Given the description of an element on the screen output the (x, y) to click on. 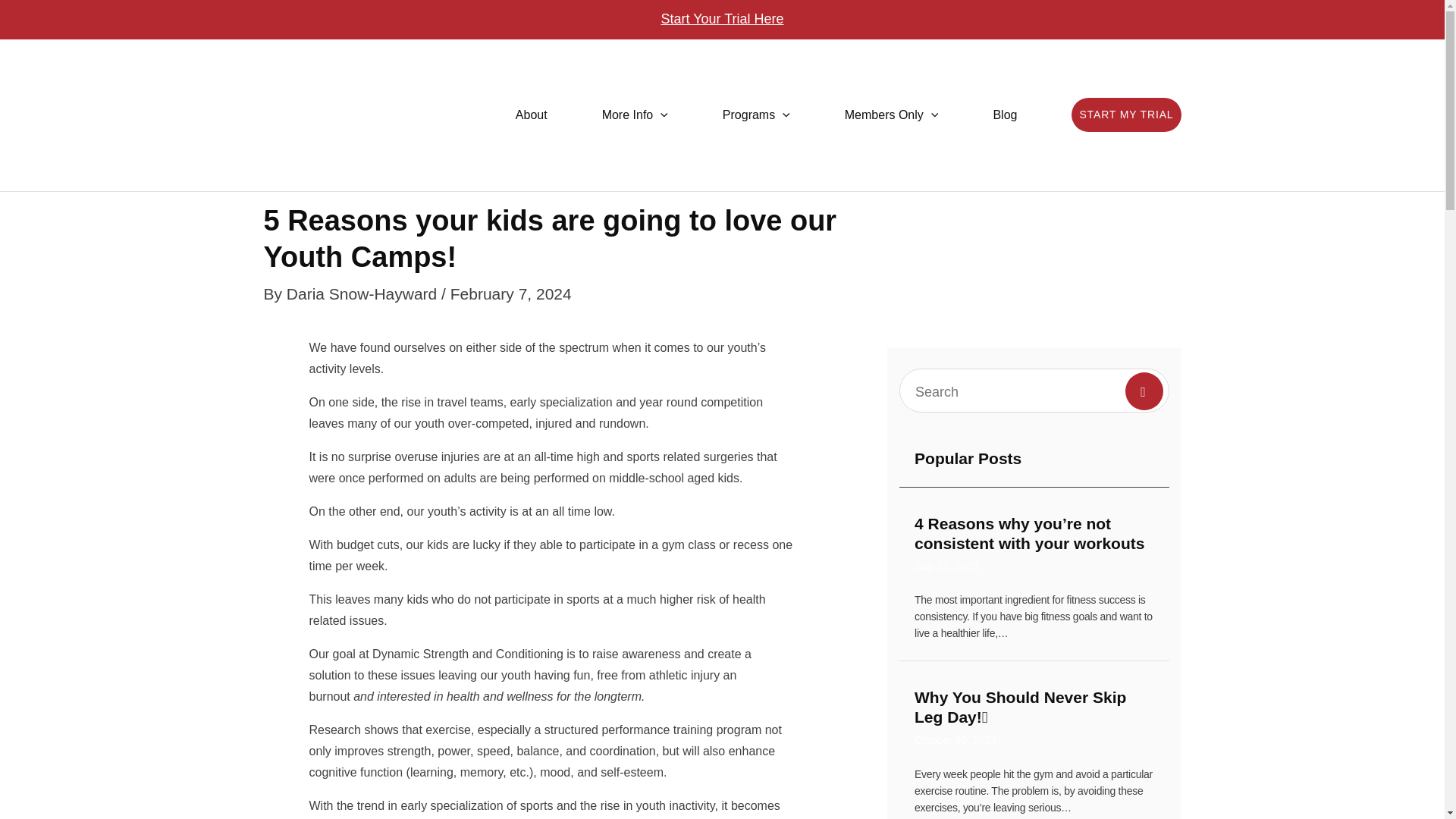
About (531, 115)
Start Your Trial Here (722, 18)
More Info (635, 115)
Blog (1004, 115)
Members Only (891, 115)
START MY TRIAL (1125, 114)
Daria Snow-Hayward (363, 293)
Programs (755, 115)
View all posts by Daria Snow-Hayward (363, 293)
